Given the description of an element on the screen output the (x, y) to click on. 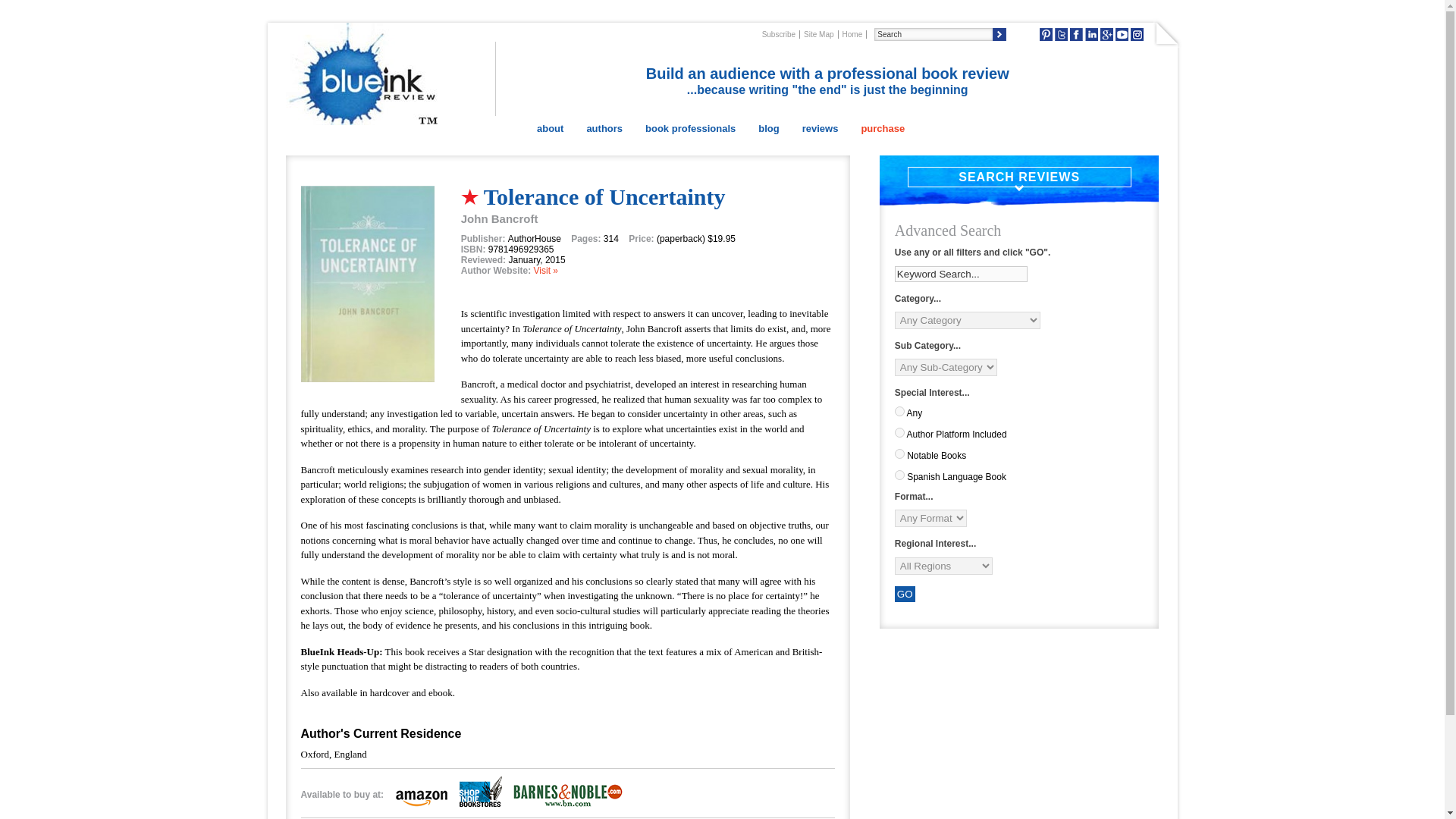
YouTube (1121, 33)
Subscribe (778, 34)
LinkedIn (1090, 33)
Facebook (1076, 33)
Google Plus (1106, 33)
Twitter (1060, 33)
Home (852, 34)
author-platform-included (899, 432)
notable-books (899, 453)
GO (905, 593)
Pinterest (1045, 33)
Site Map (818, 34)
spanish-language-book (899, 474)
